Given the description of an element on the screen output the (x, y) to click on. 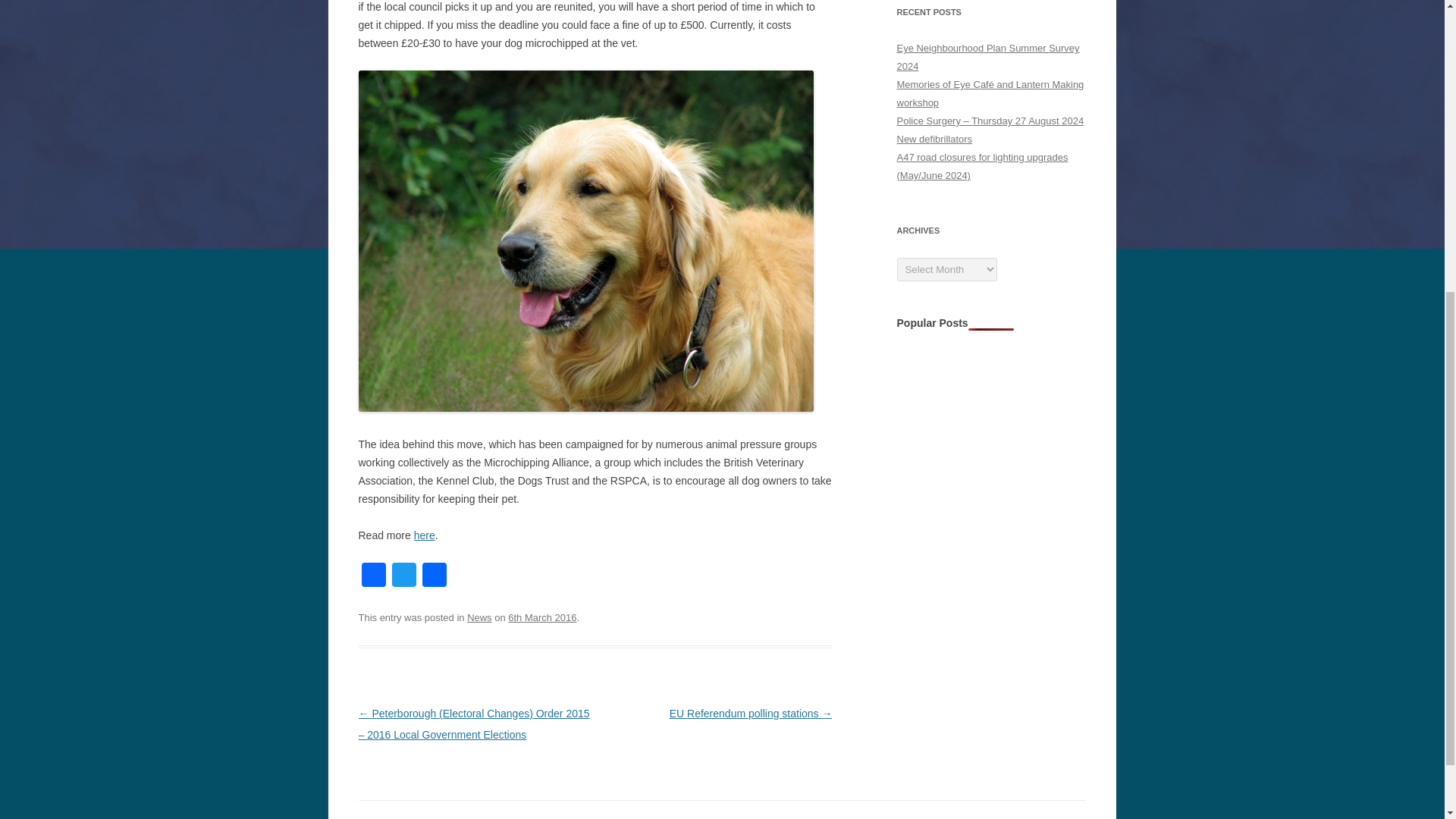
8:46 pm (542, 617)
Twitter (403, 576)
Facebook (373, 576)
